Given the description of an element on the screen output the (x, y) to click on. 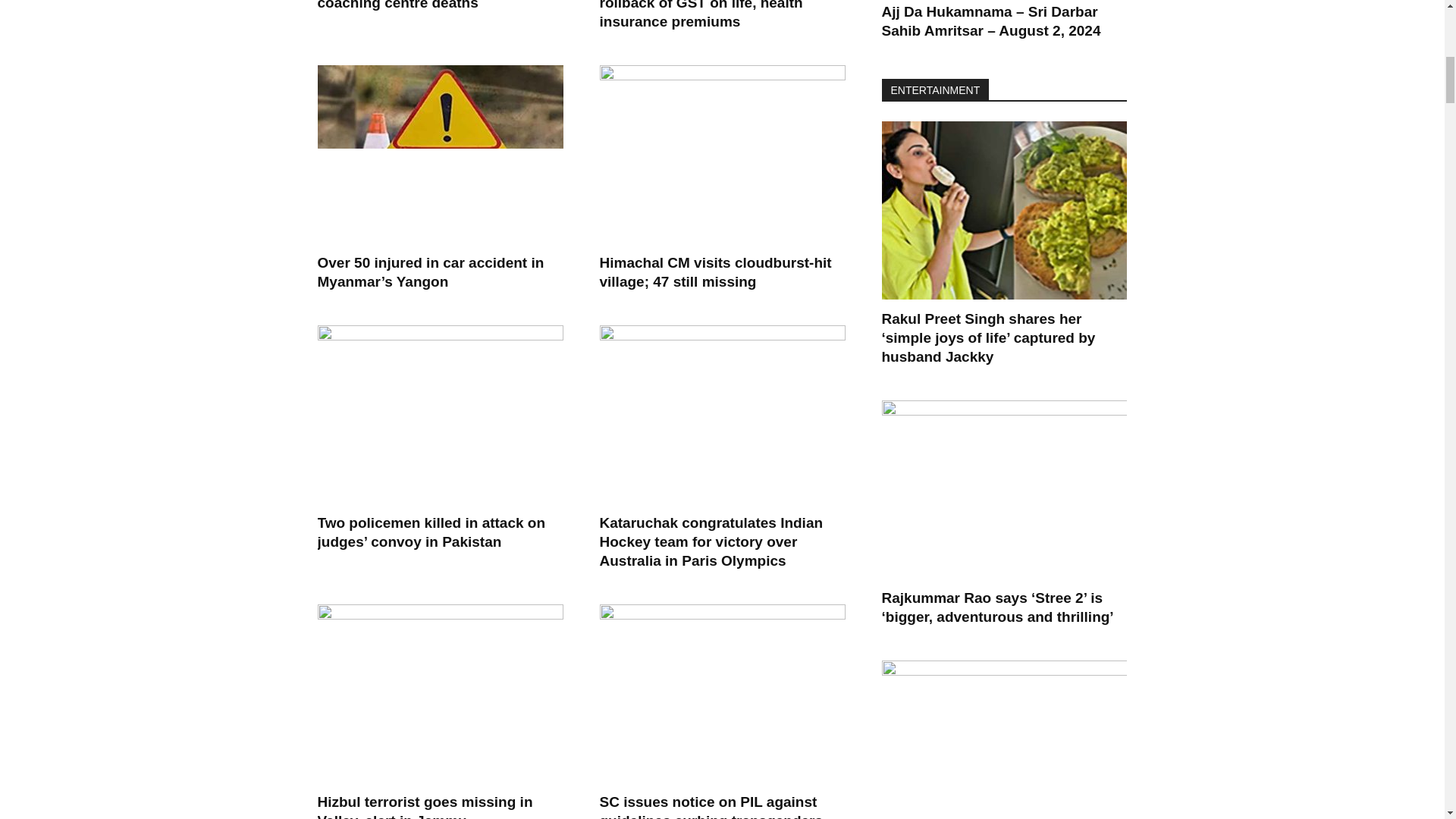
Delhi HC orders CBI probe into coaching centre deaths (423, 5)
